Given the description of an element on the screen output the (x, y) to click on. 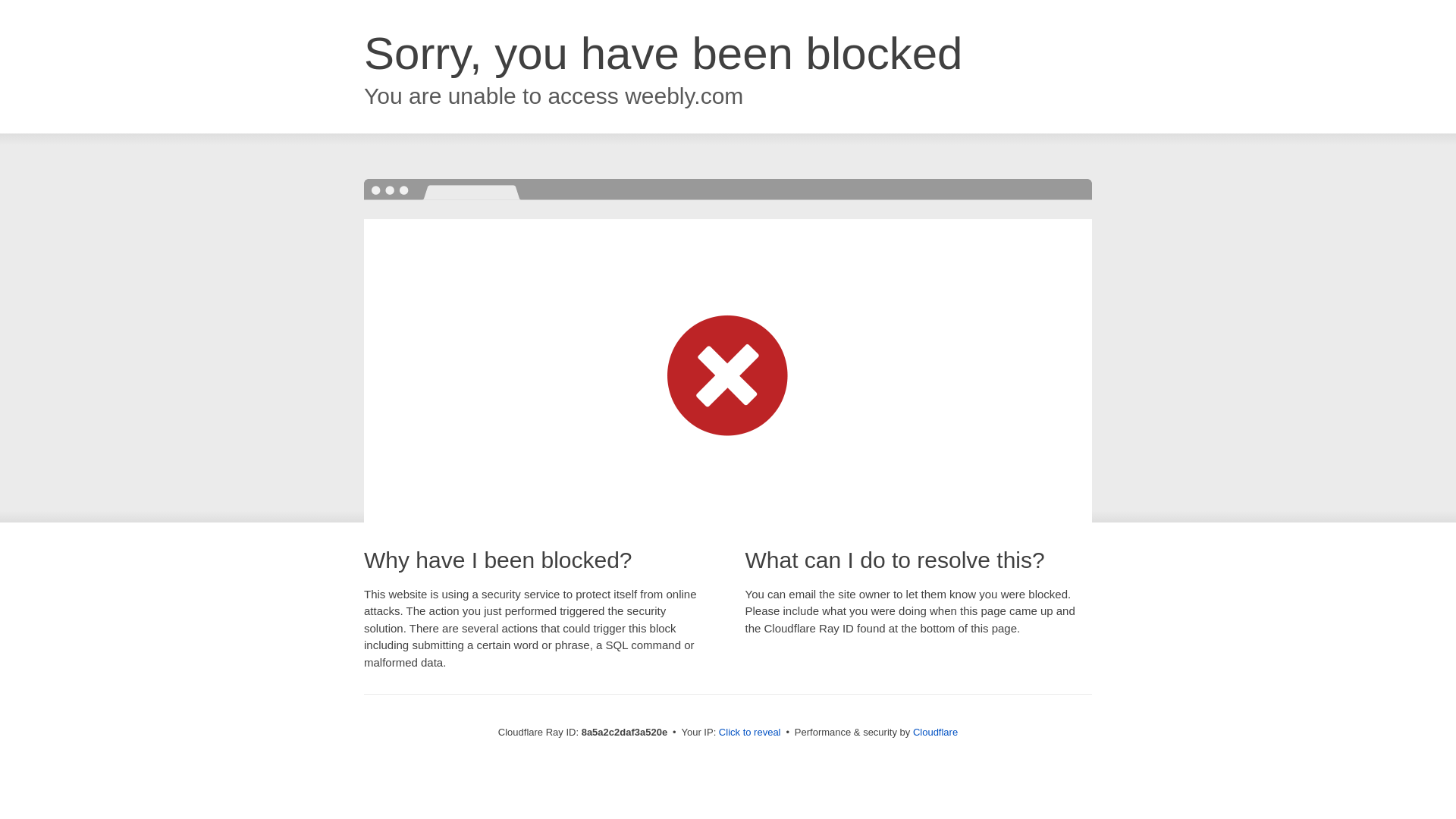
Click to reveal (749, 732)
Cloudflare (935, 731)
